Given the description of an element on the screen output the (x, y) to click on. 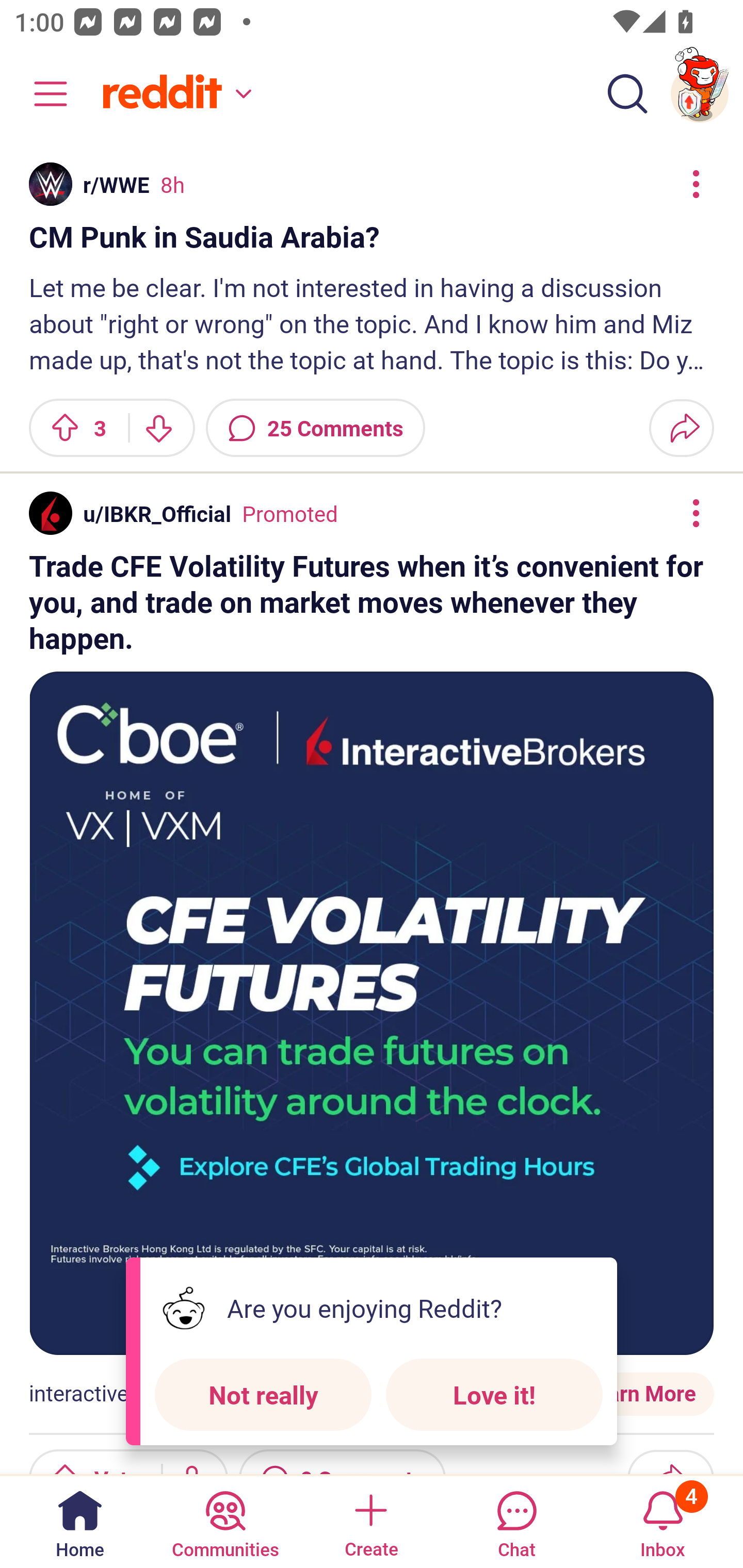
Search (626, 93)
TestAppium002 account (699, 93)
Community menu (41, 94)
Home feed (173, 94)
Home (80, 1520)
Communities (225, 1520)
Create a post Create (370, 1520)
Chat (516, 1520)
Inbox, has 4 notifications 4 Inbox (662, 1520)
